Given the description of an element on the screen output the (x, y) to click on. 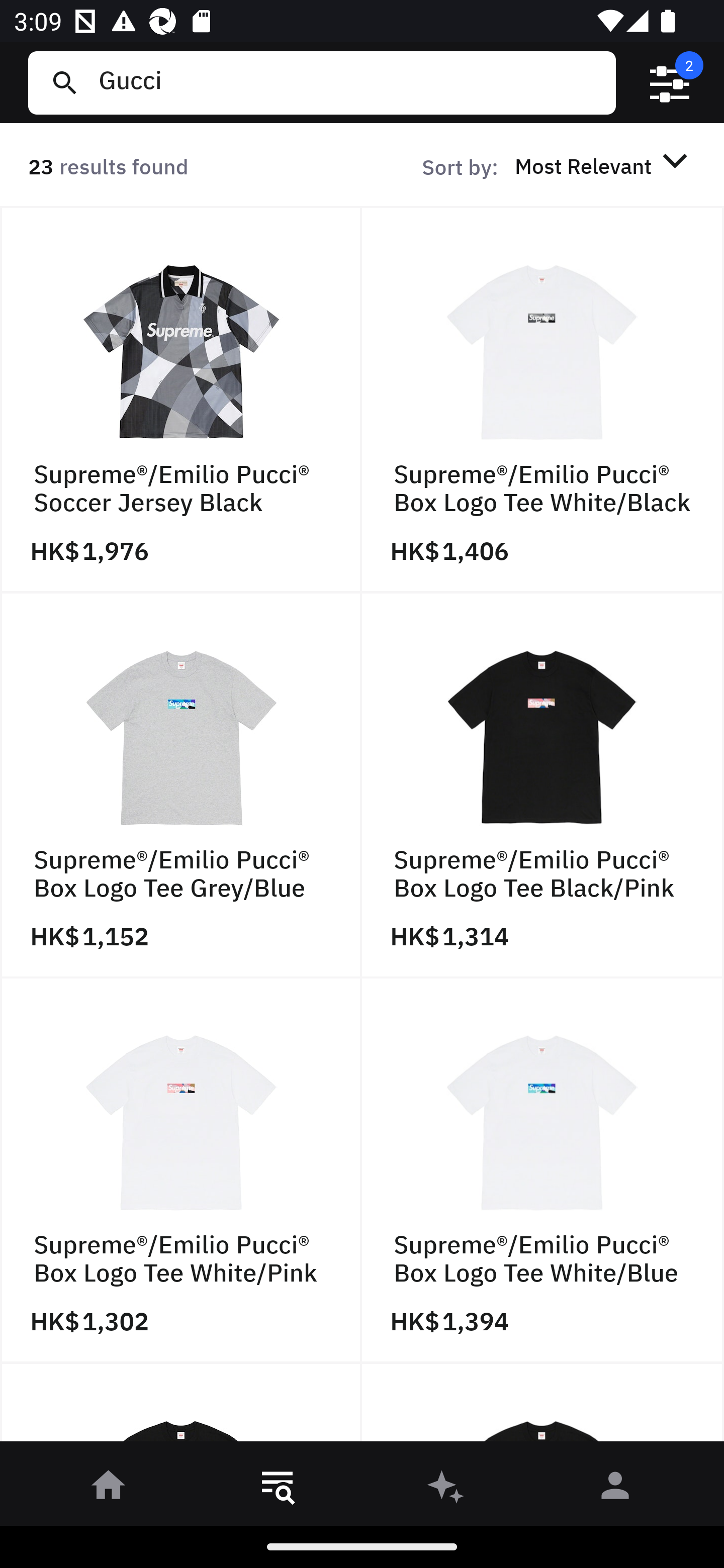
Gucci (349, 82)
 (669, 82)
Most Relevant  (604, 165)
󰋜 (108, 1488)
󱎸 (277, 1488)
󰫢 (446, 1488)
󰀄 (615, 1488)
